Given the description of an element on the screen output the (x, y) to click on. 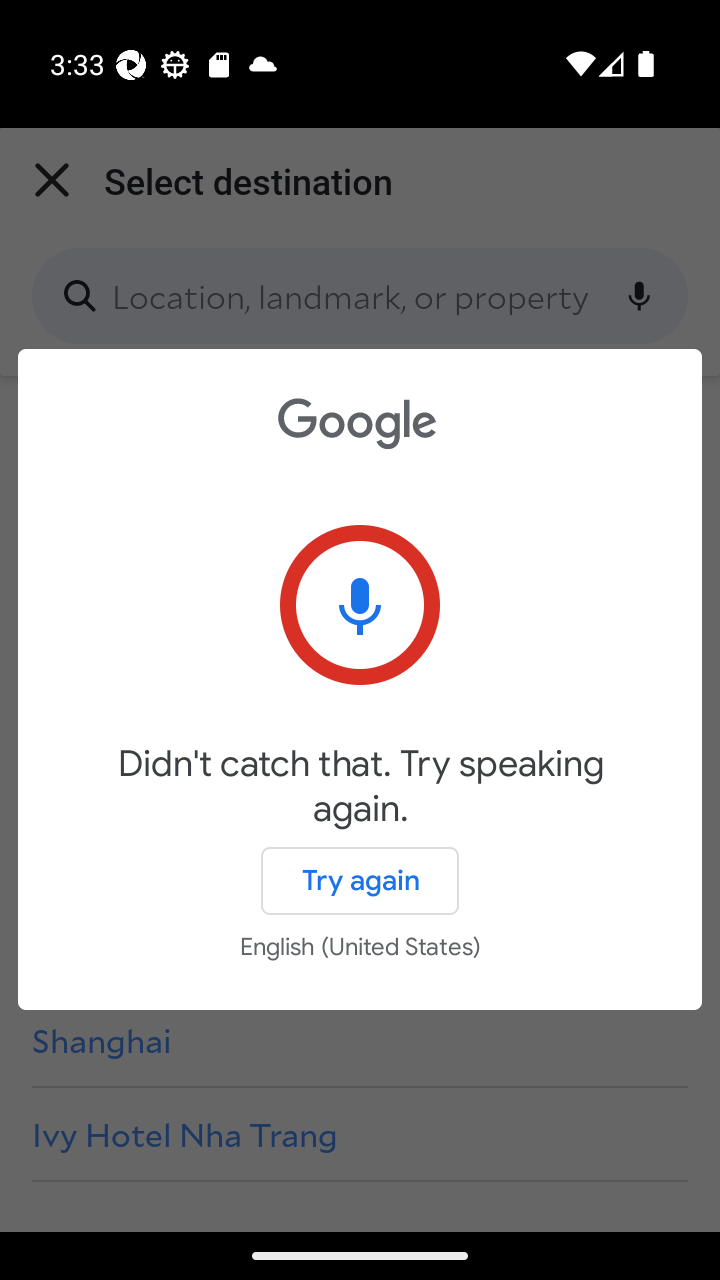
Tap to try again (359, 604)
Try again (359, 880)
